Given the description of an element on the screen output the (x, y) to click on. 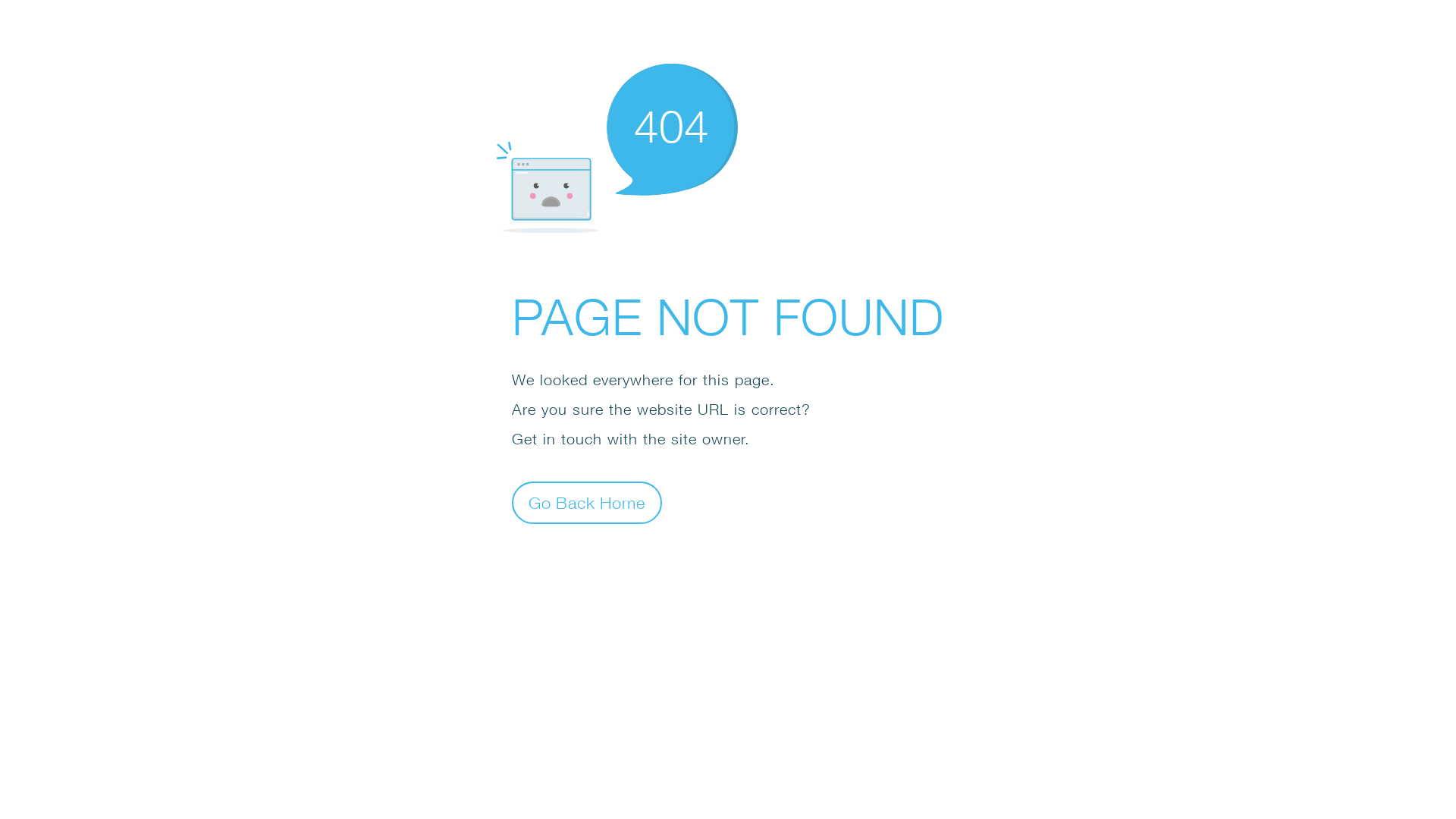
Go Back Home Element type: text (586, 502)
